Given the description of an element on the screen output the (x, y) to click on. 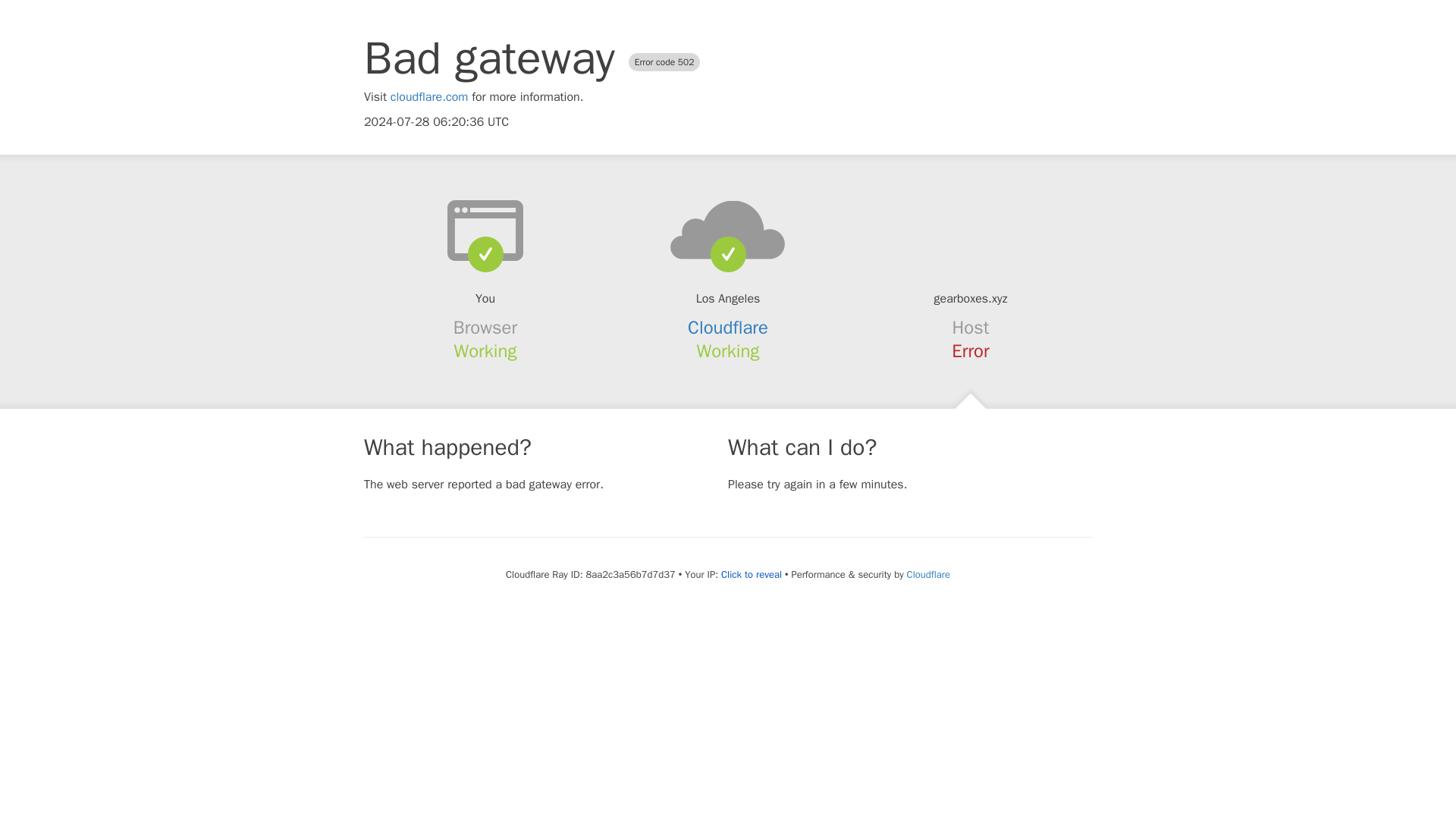
cloudflare.com (429, 96)
Cloudflare (928, 574)
Click to reveal (750, 574)
Cloudflare (727, 327)
